Given the description of an element on the screen output the (x, y) to click on. 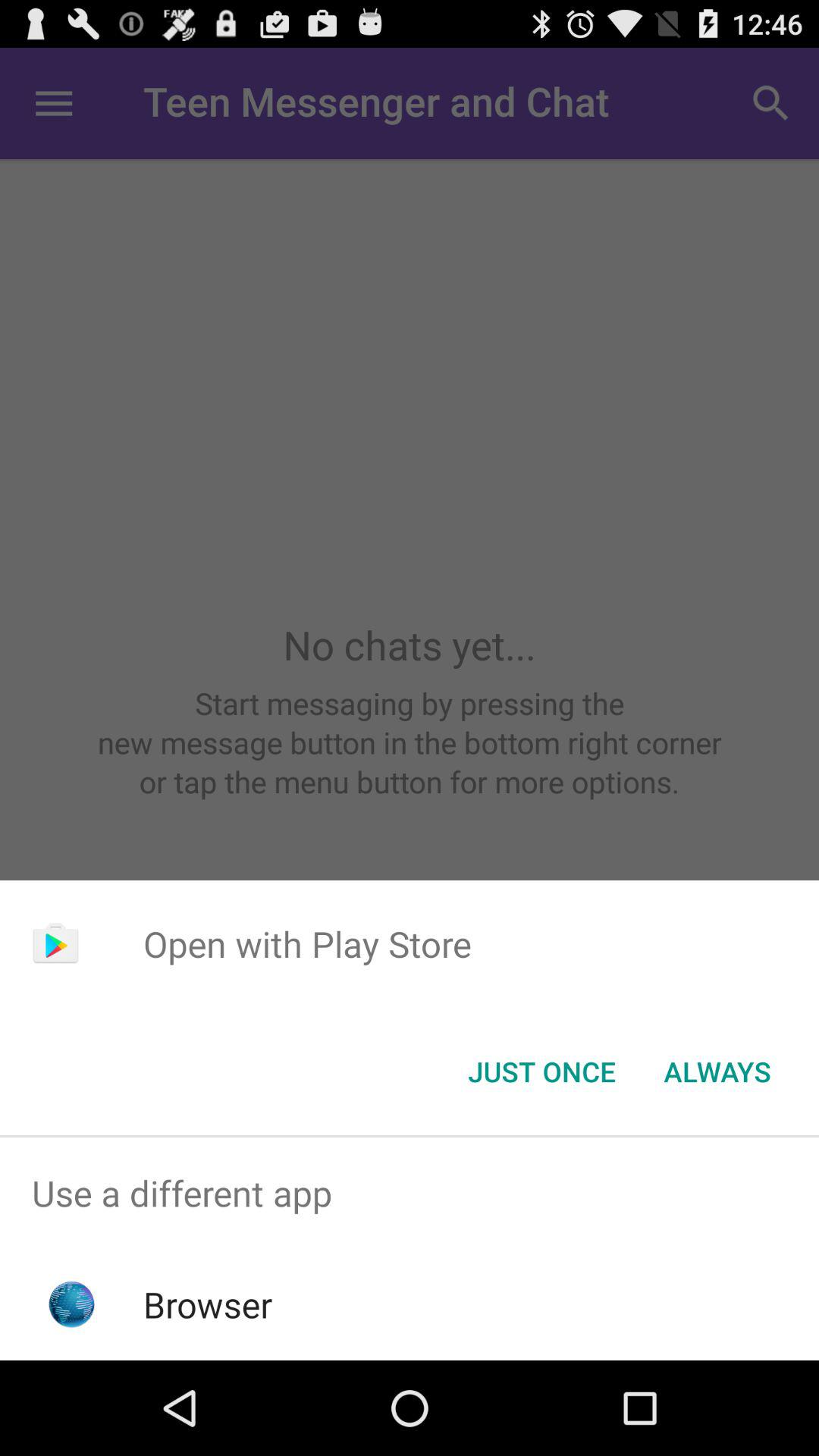
flip to use a different icon (409, 1192)
